Given the description of an element on the screen output the (x, y) to click on. 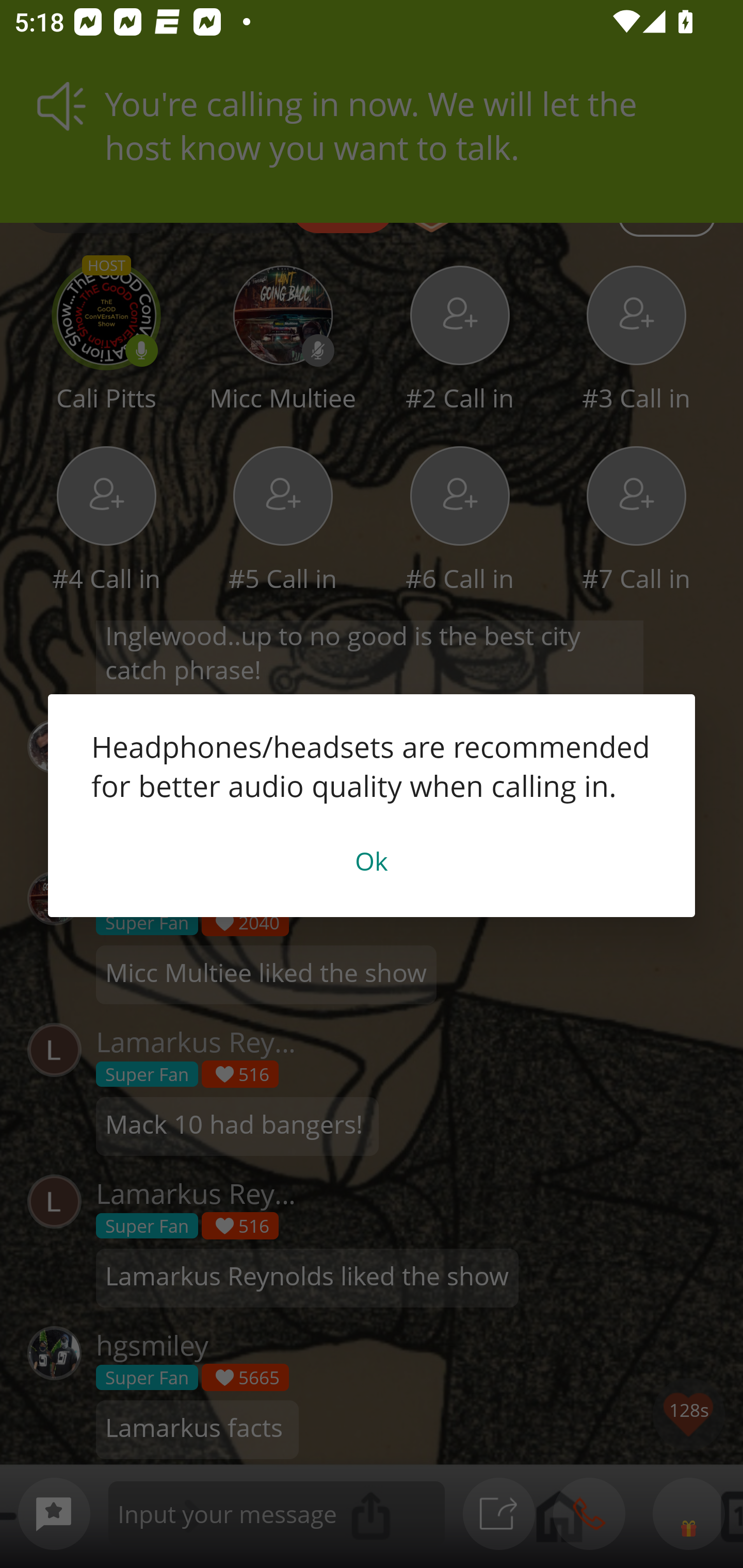
Ok (371, 860)
